Given the description of an element on the screen output the (x, y) to click on. 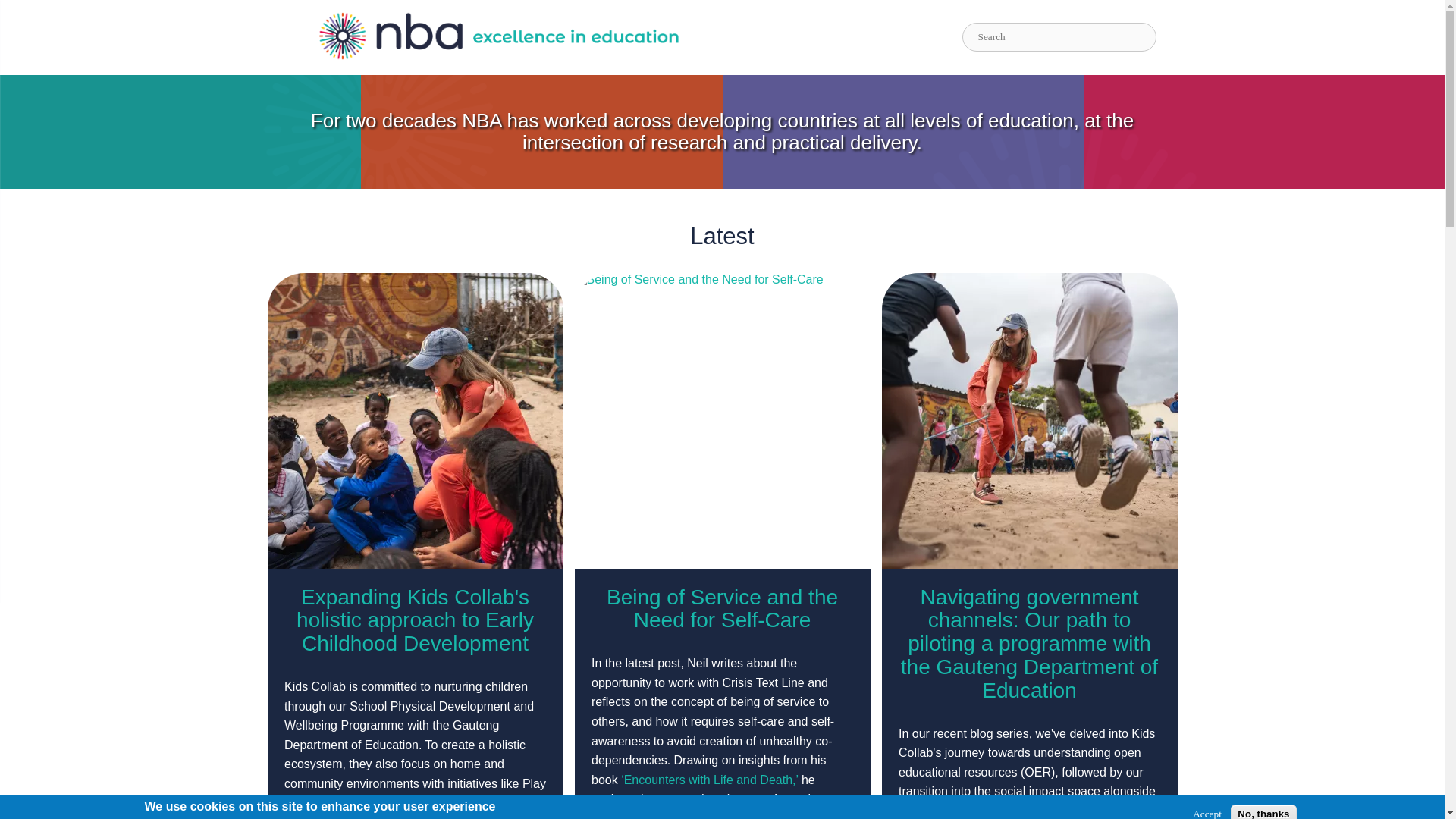
Being of Service and the Need for Self-Care (722, 608)
Search (1166, 36)
Enter the terms you wish to search for. (1058, 36)
